Given the description of an element on the screen output the (x, y) to click on. 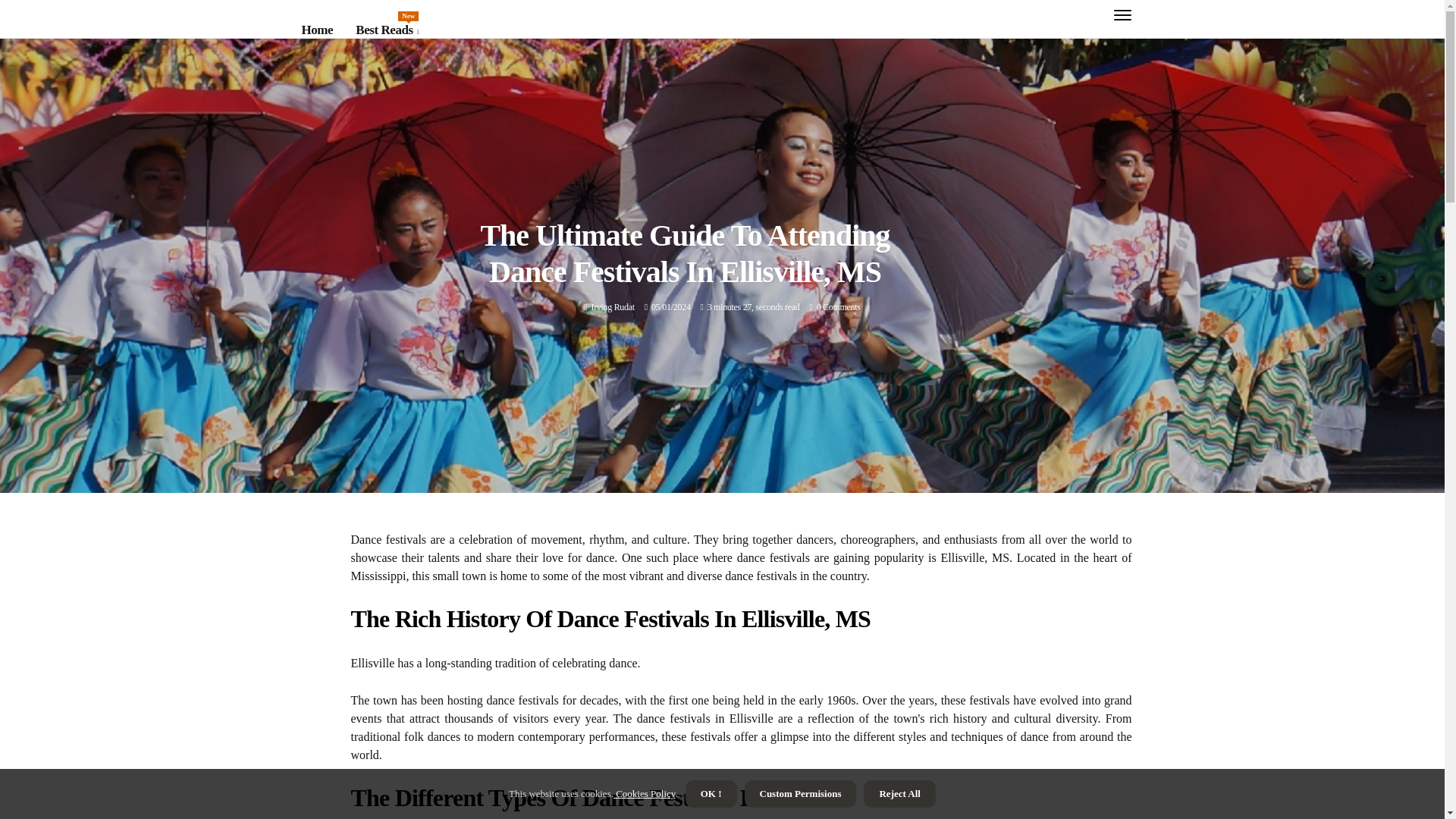
0 Comments (838, 307)
Posts by Irving Rudat (612, 307)
Irving Rudat (612, 307)
